Given the description of an element on the screen output the (x, y) to click on. 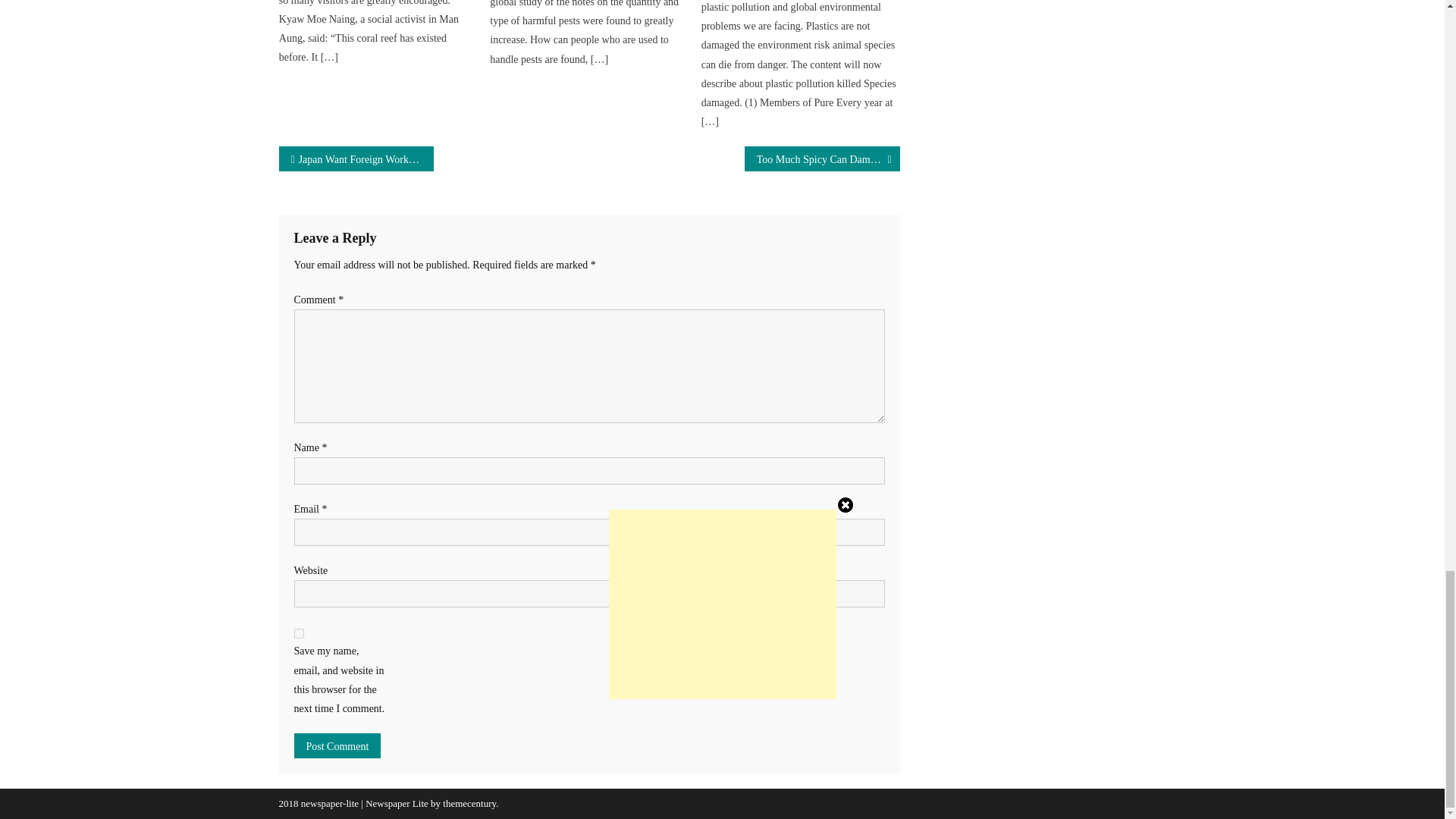
Japan Want Foreign Workers To Service Old Age People (356, 158)
Post Comment (337, 745)
Too Much Spicy Can Damage To Brain (821, 158)
Post Comment (337, 745)
yes (299, 633)
